Given the description of an element on the screen output the (x, y) to click on. 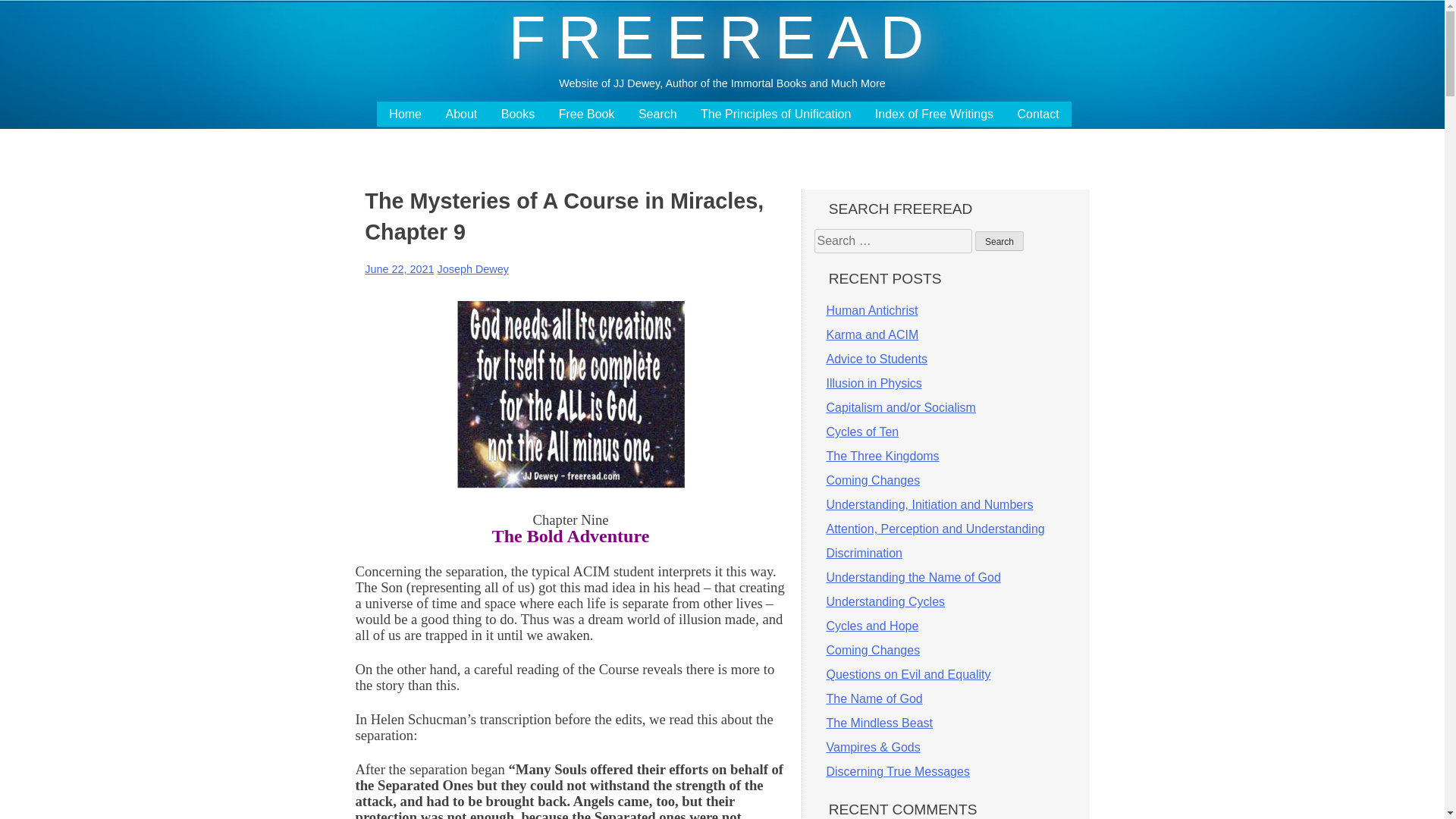
Home (405, 114)
Free Book (586, 114)
Index of Free Writings (933, 114)
Books (517, 114)
FREEREAD (722, 37)
Search (658, 114)
Search (999, 240)
Search (999, 240)
June 22, 2021 (399, 268)
About (461, 114)
Contact (1038, 114)
The Principles of Unification (775, 114)
Joseph Dewey (473, 268)
